Given the description of an element on the screen output the (x, y) to click on. 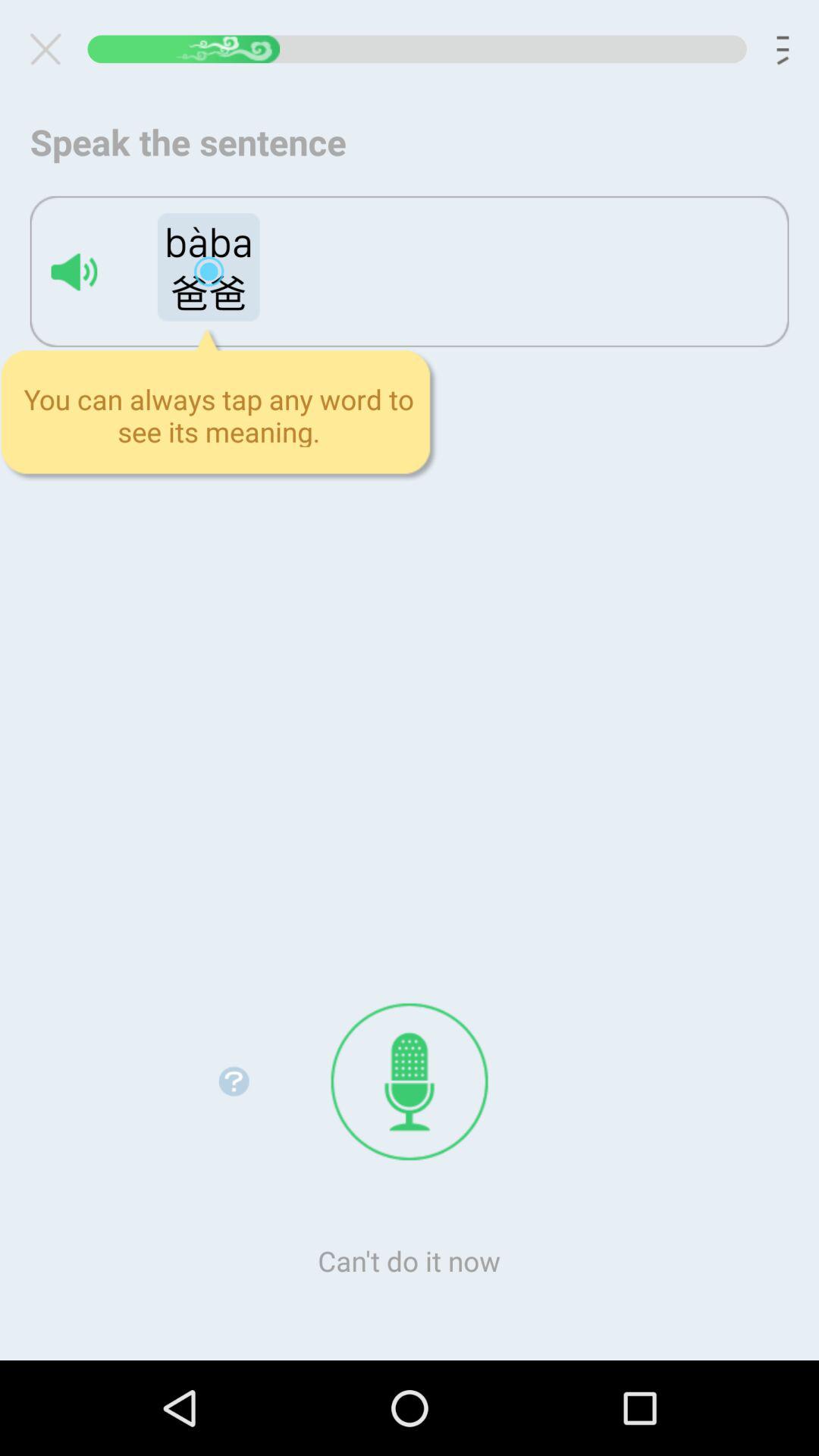
microphone (409, 1081)
